Given the description of an element on the screen output the (x, y) to click on. 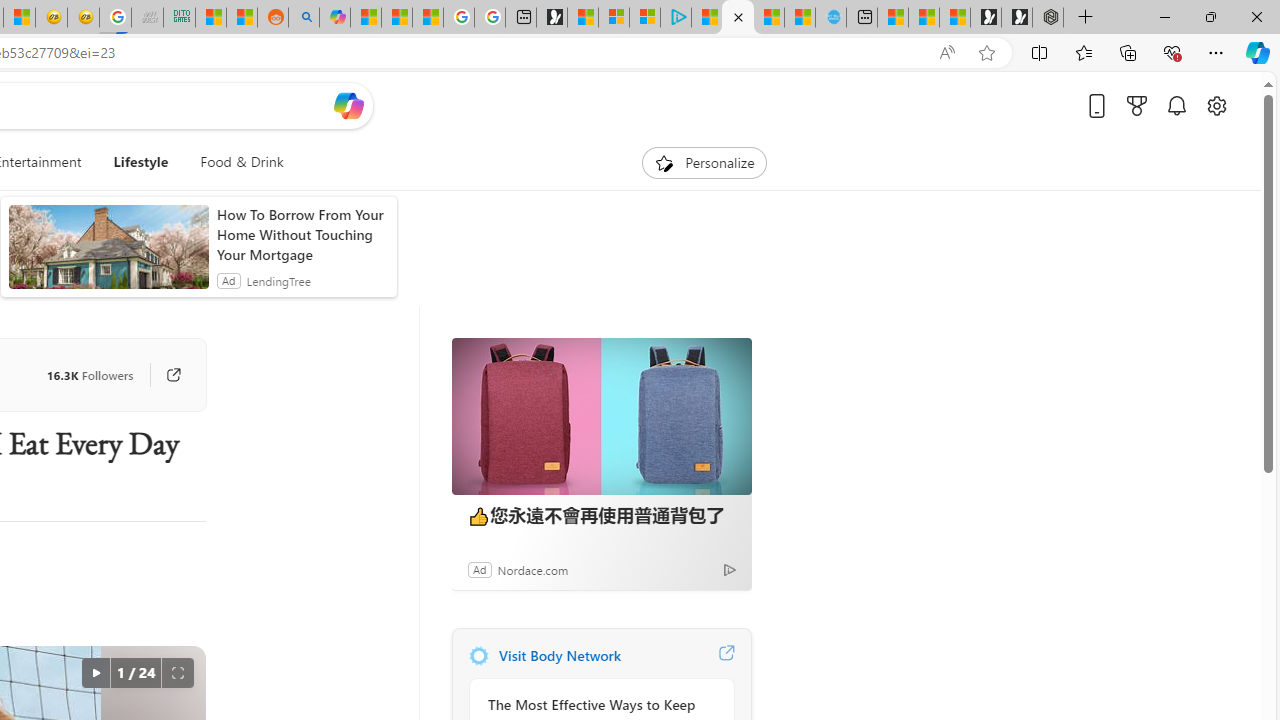
Body Network (478, 655)
Full screen (177, 673)
